Given the description of an element on the screen output the (x, y) to click on. 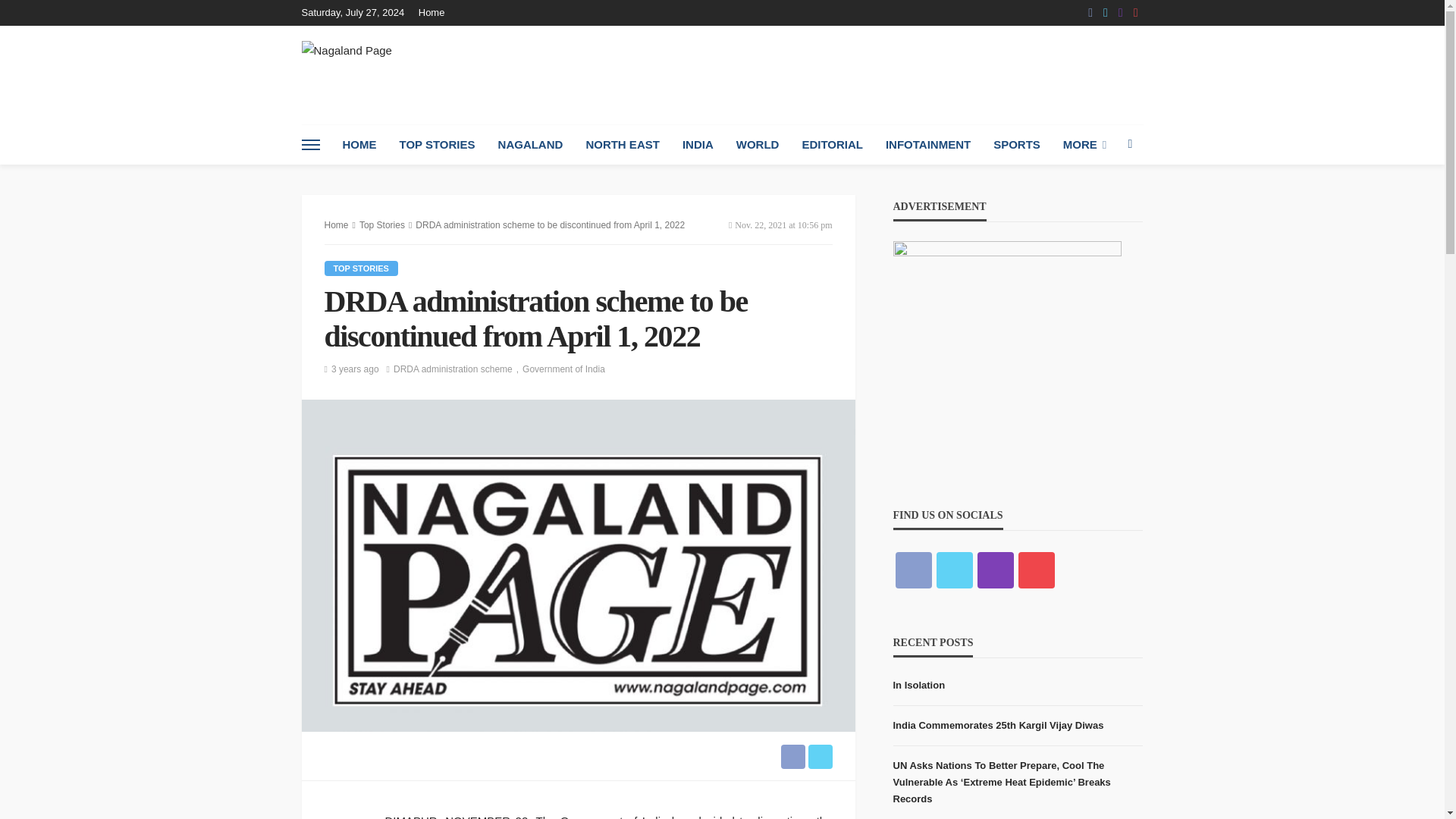
EDITORIAL (832, 144)
NORTH EAST (622, 144)
TOP STORIES (437, 144)
WORLD (757, 144)
HOME (358, 144)
Home (435, 12)
INFOTAINMENT (928, 144)
nagaland-page-logo (346, 64)
Top Stories (360, 268)
INDIA (698, 144)
MORE (1084, 144)
SPORTS (1016, 144)
NAGALAND (530, 144)
